Given the description of an element on the screen output the (x, y) to click on. 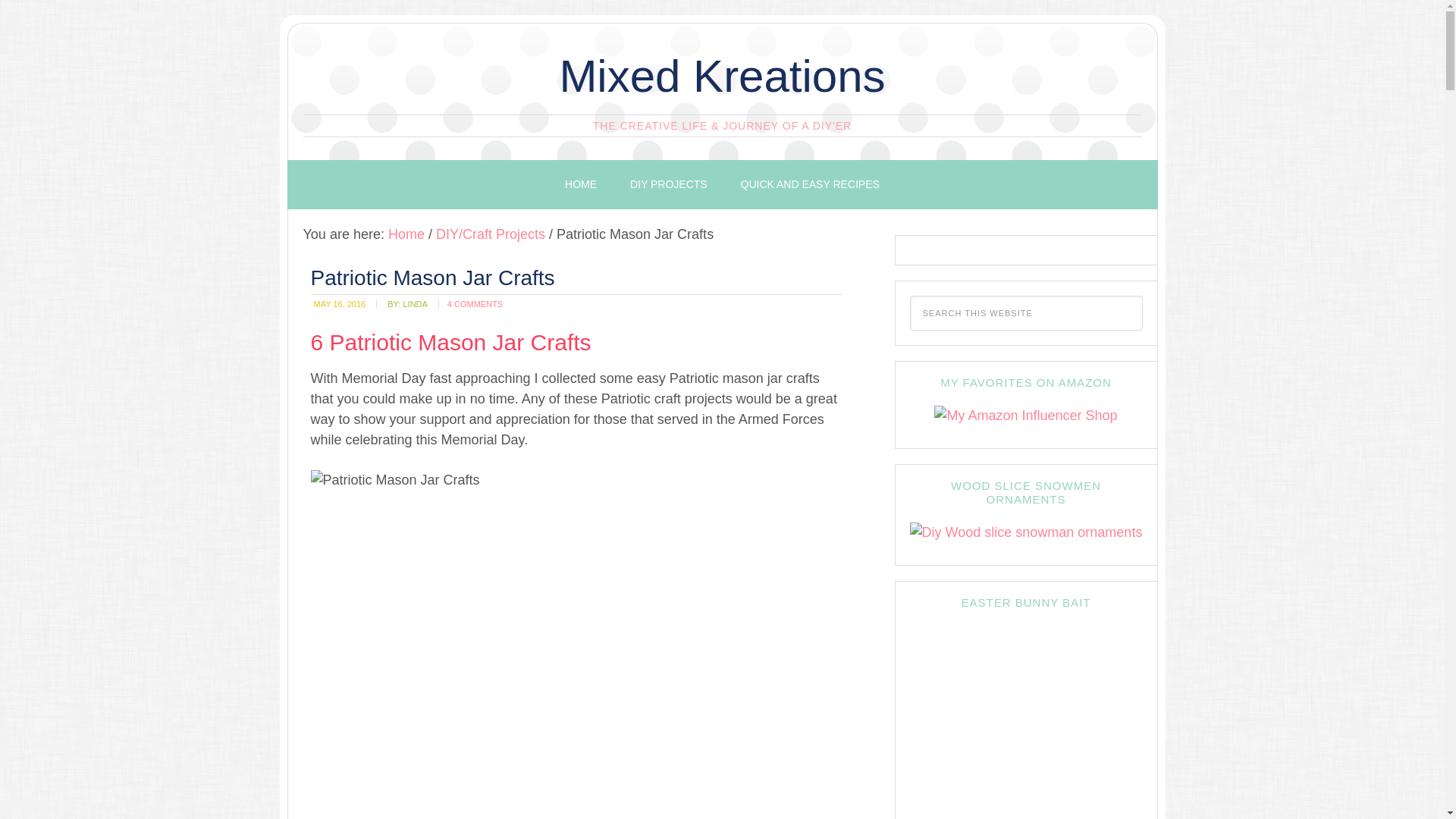
QUICK AND EASY RECIPES (810, 184)
DIY PROJECTS (668, 184)
HOME (580, 184)
Mixed Kreations (722, 75)
4 COMMENTS (474, 303)
Home (406, 233)
